Given the description of an element on the screen output the (x, y) to click on. 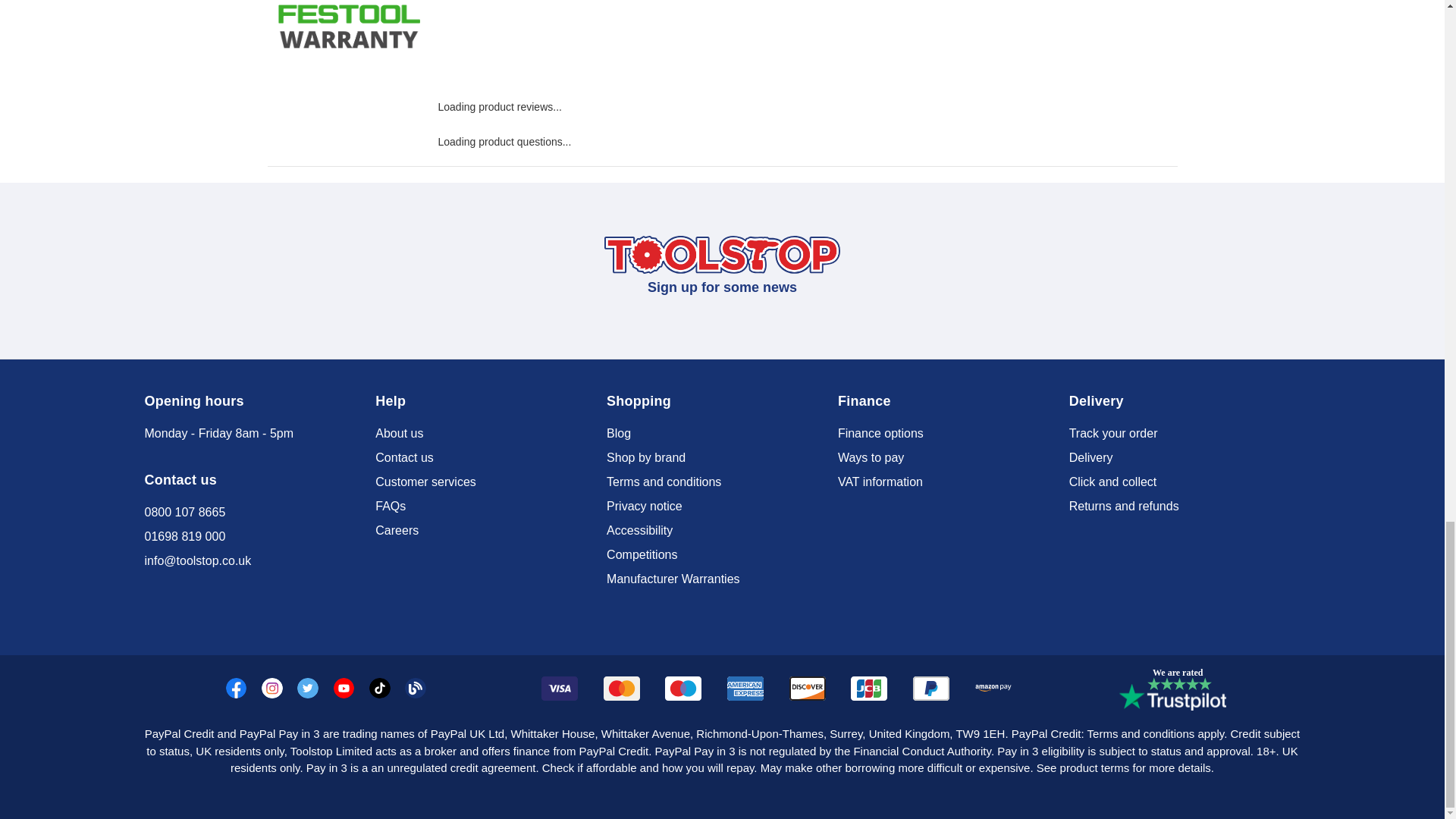
Toolstop TikTok (379, 688)
Toolstop Twitter (307, 688)
Toolstop Blog (415, 688)
Toolstop Instagram (272, 688)
Toolstop Facebook (236, 688)
Toolstop YouTube (344, 688)
